Given the description of an element on the screen output the (x, y) to click on. 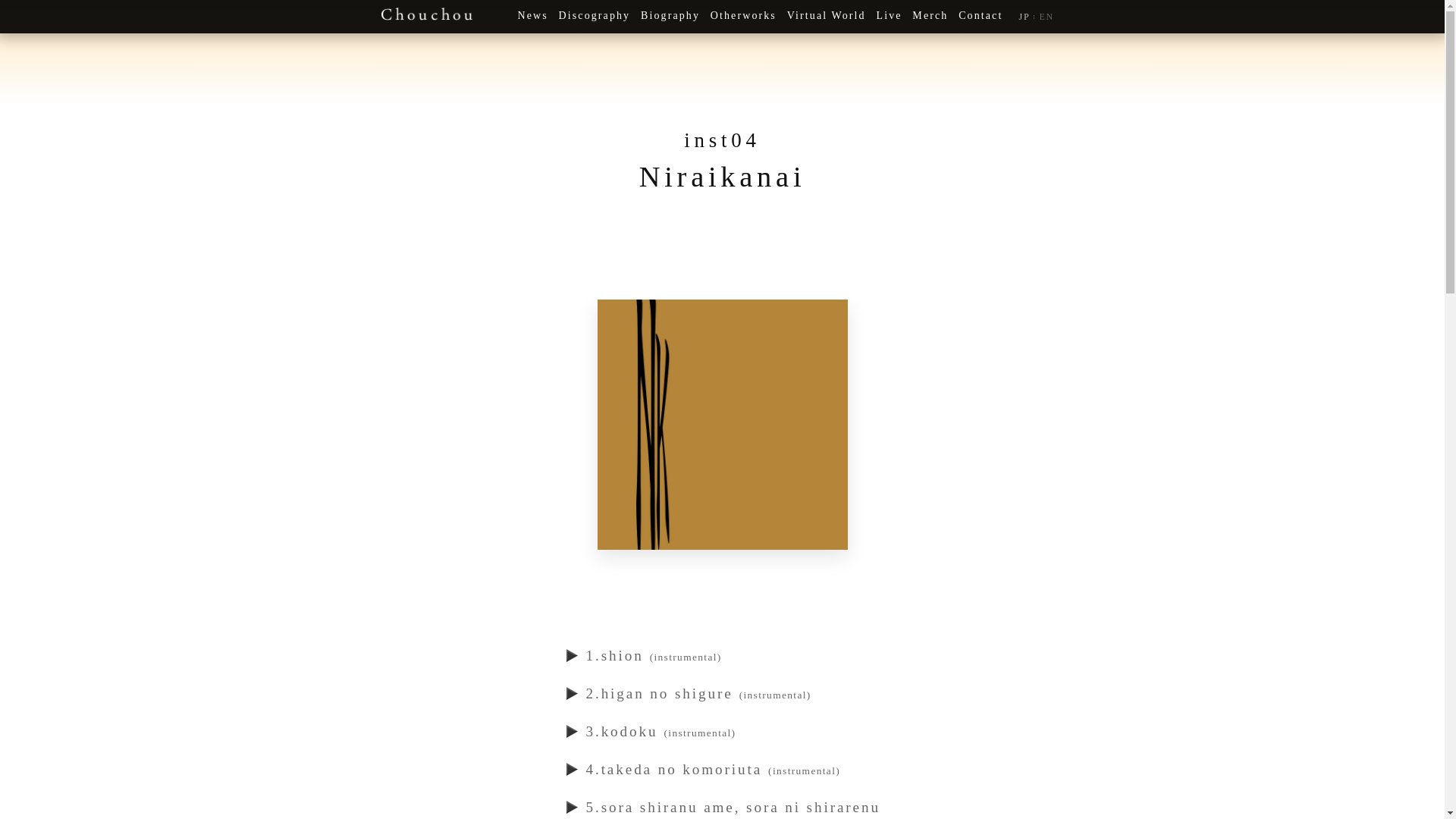
play Element type: text (572, 693)
play Element type: text (572, 807)
Chouchou Element type: hover (425, 13)
play Element type: text (572, 655)
Biography Element type: text (669, 15)
play Element type: text (572, 731)
Contact Element type: text (980, 15)
Discography Element type: text (594, 15)
Live Element type: text (888, 15)
Merch Element type: text (929, 15)
play Element type: text (572, 769)
News Element type: text (532, 15)
Otherworks Element type: text (743, 15)
Virtual World Element type: text (826, 15)
